Given the description of an element on the screen output the (x, y) to click on. 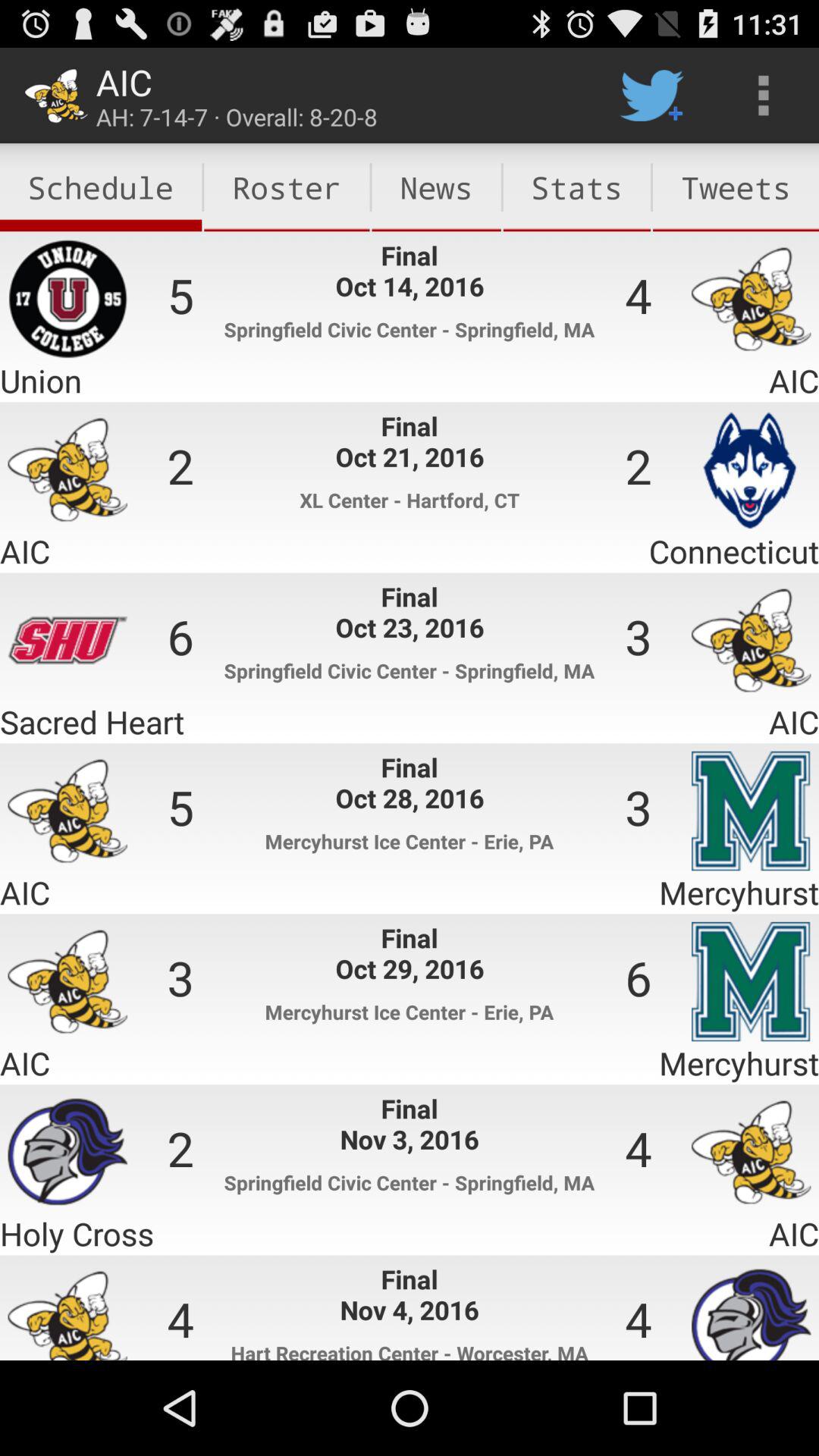
jump until the tweets item (735, 187)
